Given the description of an element on the screen output the (x, y) to click on. 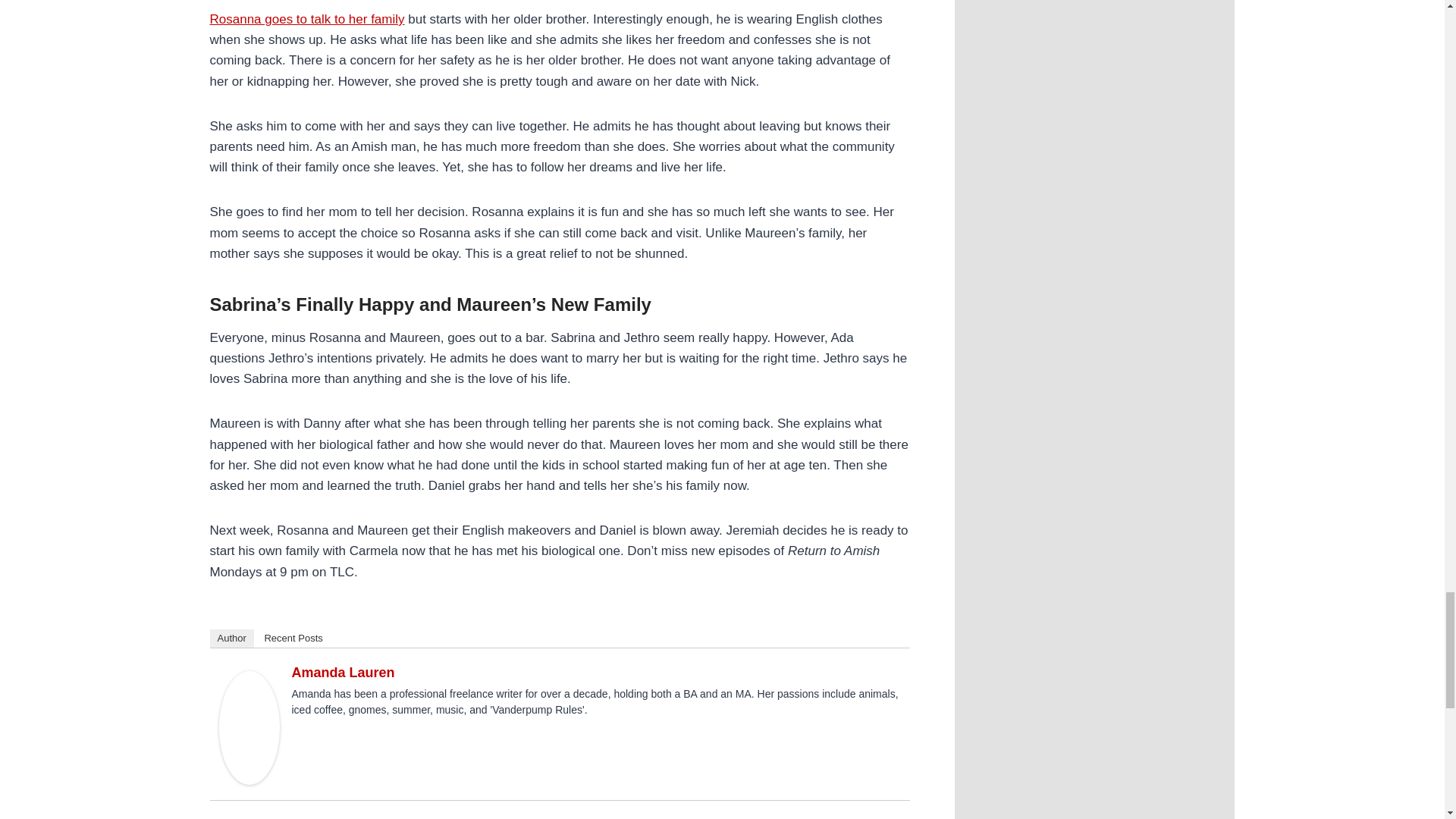
Author (231, 638)
Rosanna goes to talk to her family (306, 19)
Amanda Lauren (342, 672)
Recent Posts (293, 638)
